Given the description of an element on the screen output the (x, y) to click on. 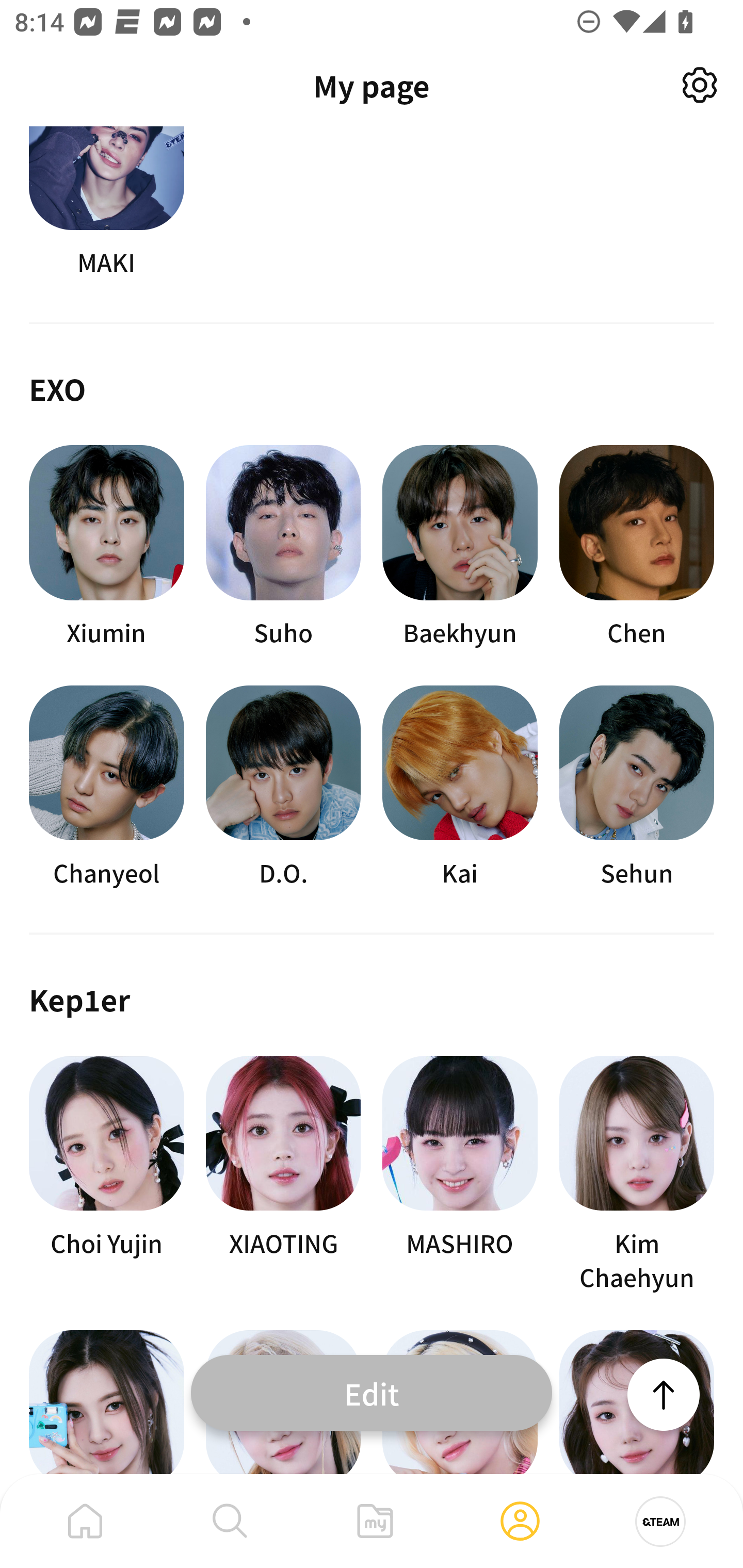
MAKI (106, 203)
Xiumin (106, 547)
Suho (282, 547)
Baekhyun (459, 547)
Chen (636, 547)
Chanyeol (106, 787)
D.O. (282, 787)
Kai (459, 787)
Sehun (636, 787)
Choi Yujin (106, 1174)
XIAOTING (282, 1174)
MASHIRO (459, 1174)
Kim Chaehyun (636, 1174)
Edit (371, 1392)
